Given the description of an element on the screen output the (x, y) to click on. 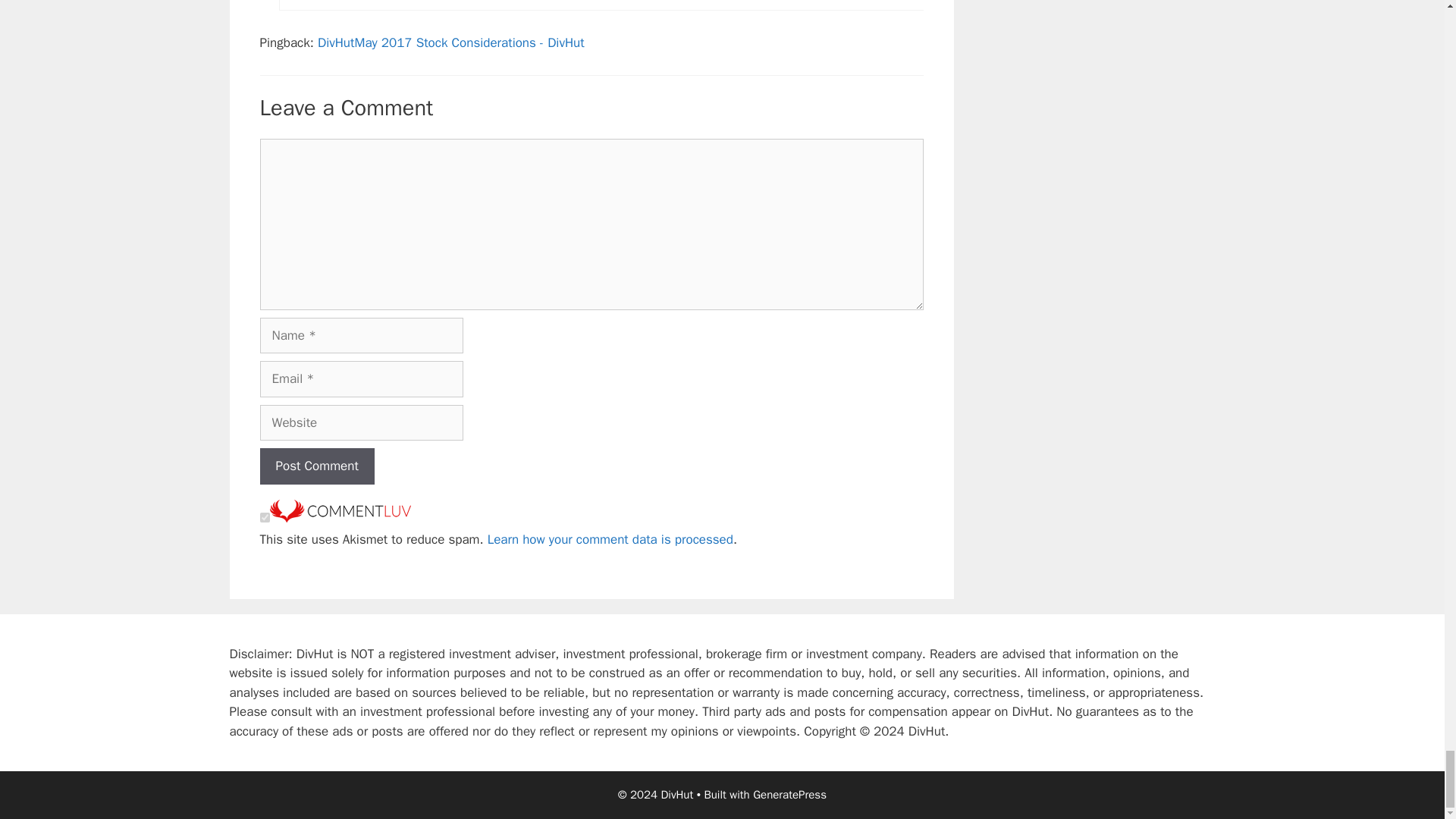
Post Comment (316, 465)
on (264, 517)
